Given the description of an element on the screen output the (x, y) to click on. 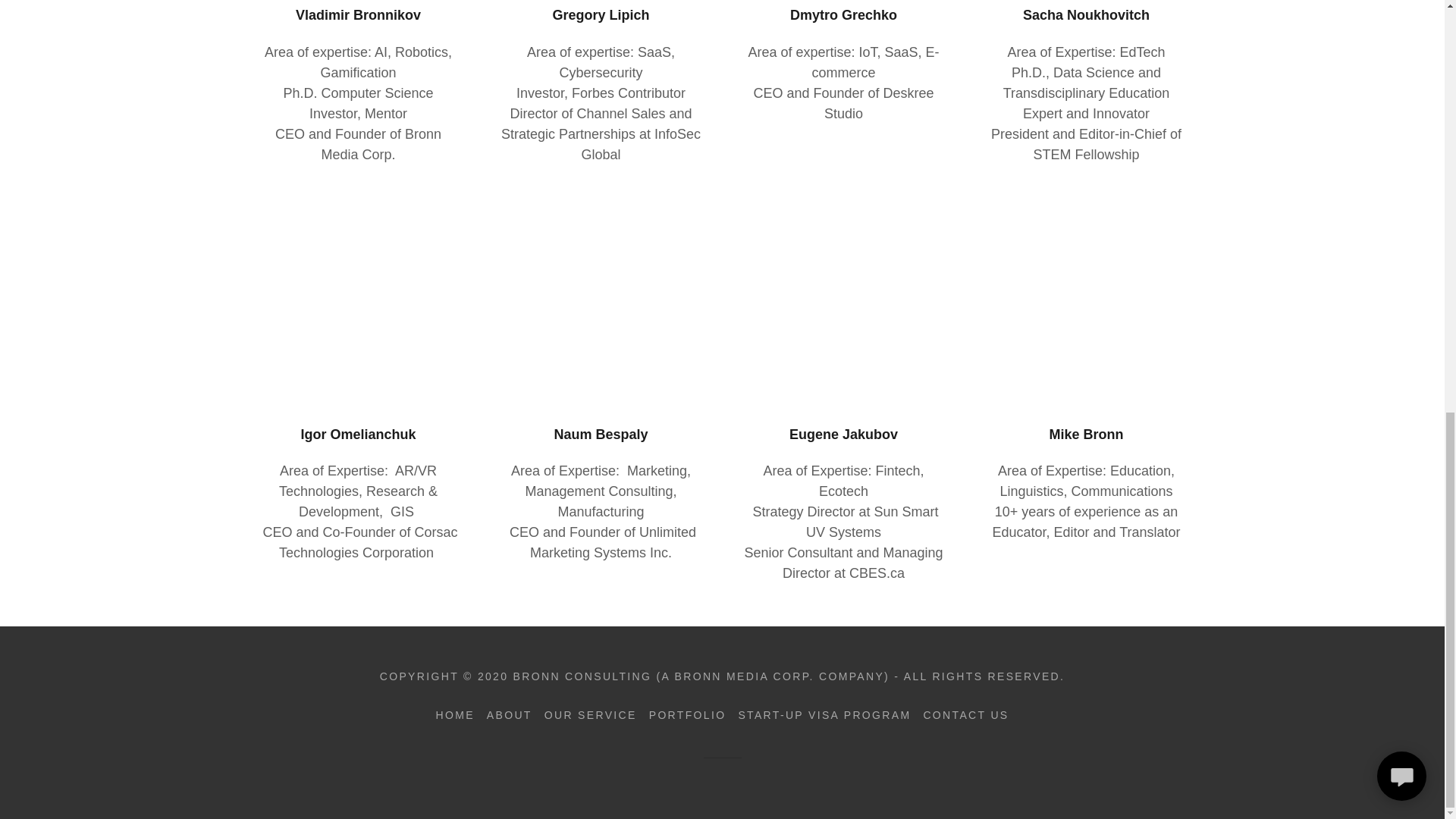
ABOUT (509, 714)
PORTFOLIO (687, 714)
CONTACT US (965, 714)
OUR SERVICE (590, 714)
START-UP VISA PROGRAM (824, 714)
HOME (454, 714)
